Given the description of an element on the screen output the (x, y) to click on. 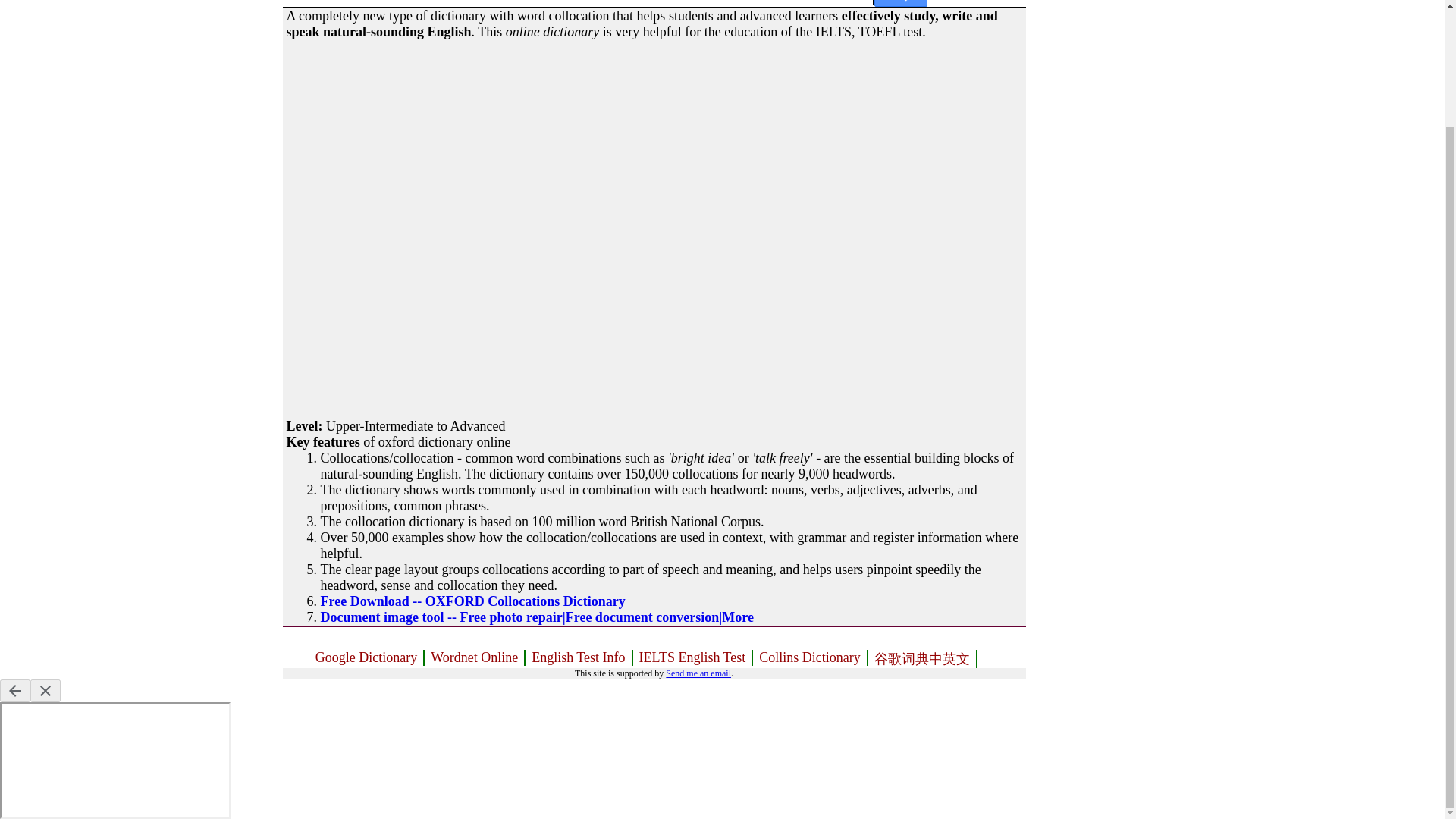
Advertisement (395, 323)
English Test Info (578, 657)
Collins Dictionary (809, 657)
IELTS English Test (693, 657)
Wordnet Online (475, 657)
Google Dictionary (366, 657)
Free Download -- OXFORD Collocations Dictionary (472, 601)
Send me an email (697, 673)
